Given the description of an element on the screen output the (x, y) to click on. 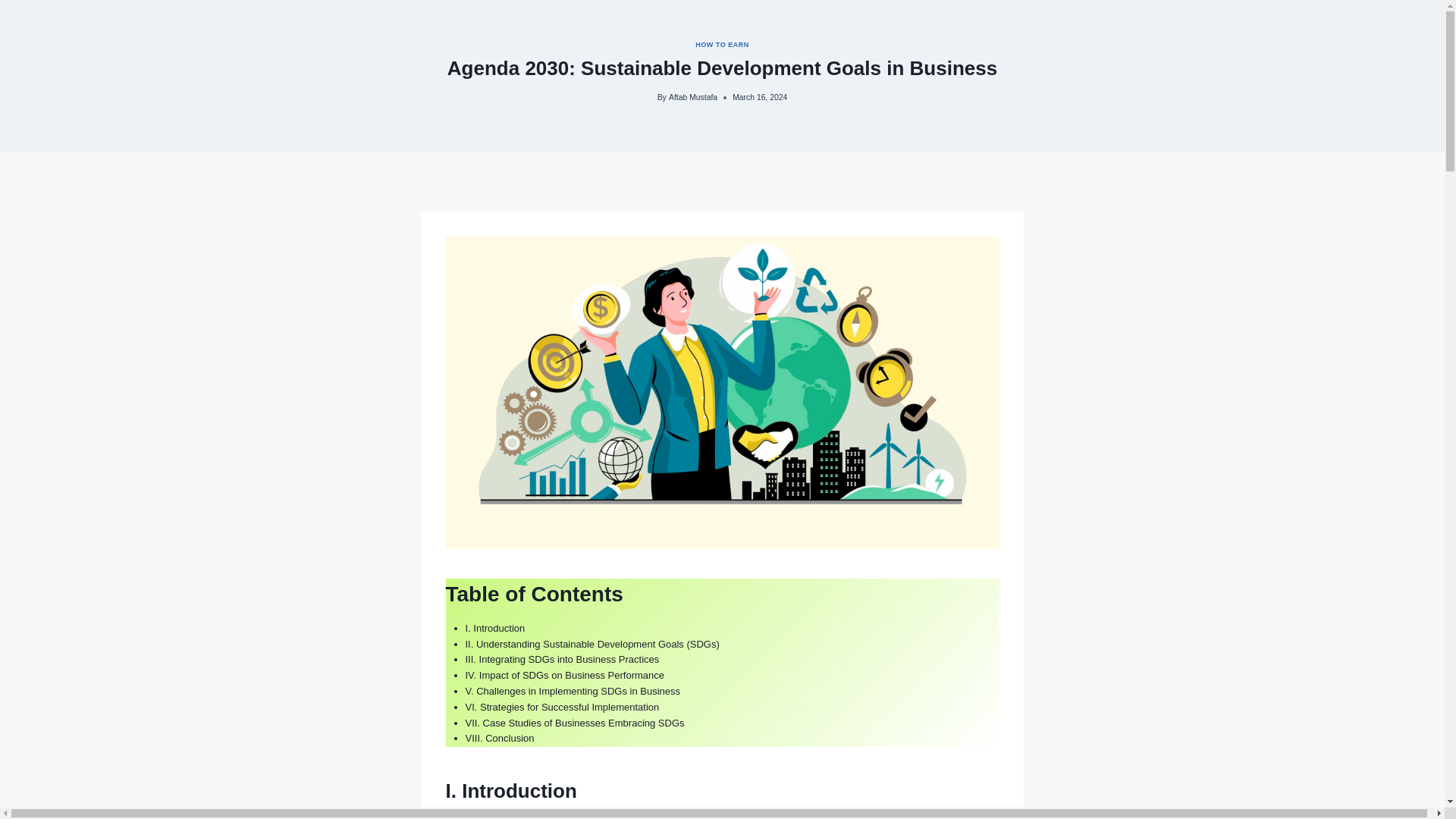
Aftab Mustafa (692, 97)
HOW TO EARN (722, 44)
